Given the description of an element on the screen output the (x, y) to click on. 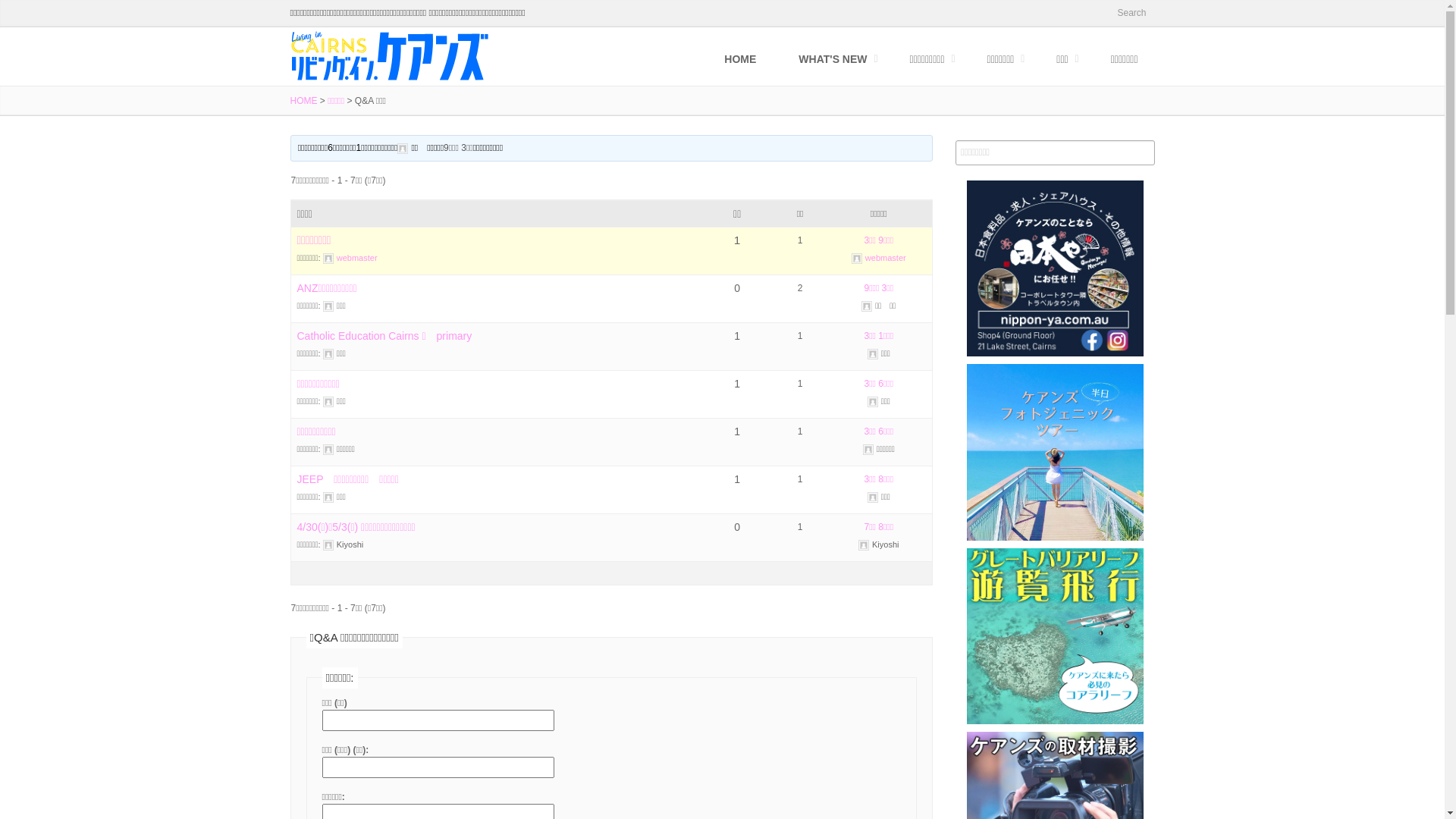
Search Element type: text (1129, 13)
HOME Element type: text (302, 100)
webmaster Element type: text (350, 257)
webmaster Element type: text (878, 257)
WHAT'S NEW Element type: text (832, 58)
HOME Element type: text (740, 58)
